Given the description of an element on the screen output the (x, y) to click on. 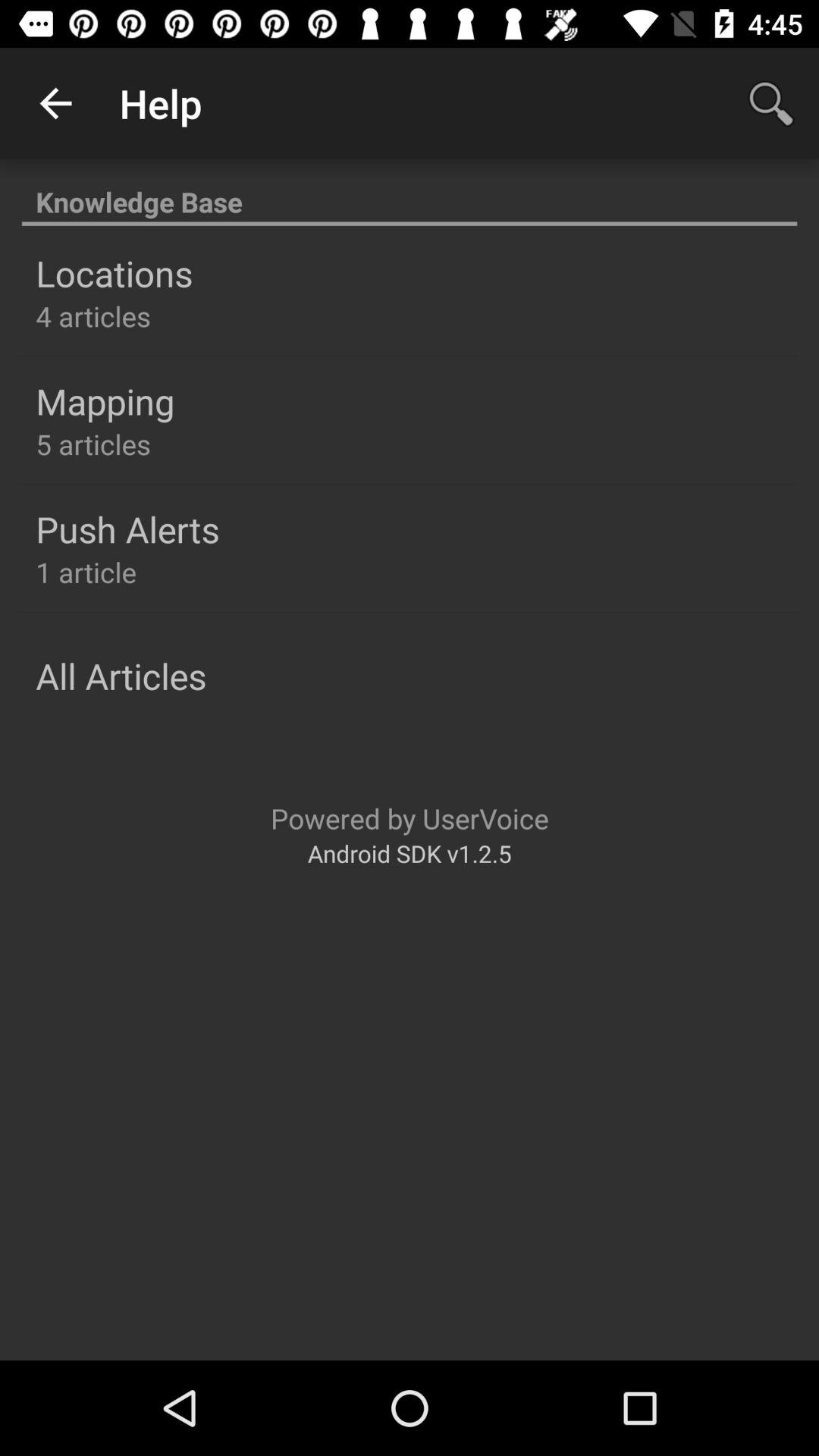
turn on icon next to help item (55, 103)
